Given the description of an element on the screen output the (x, y) to click on. 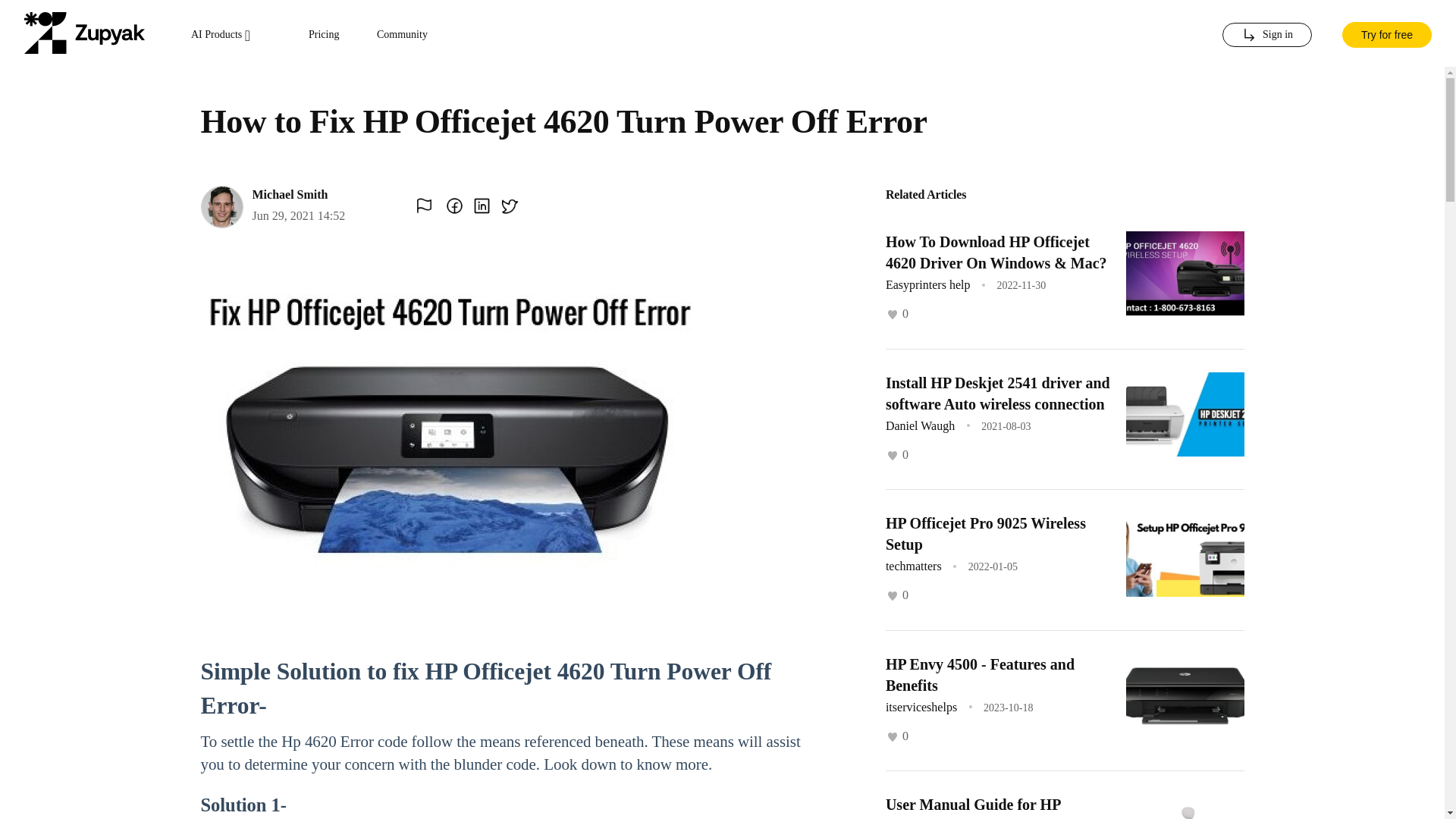
 Sign in (1267, 34)
Pricing (323, 34)
Try for free (1386, 33)
HP Officejet Pro 9025 Wireless Setup (985, 533)
Community (402, 34)
HP Envy 4500 - Features and Benefits (979, 673)
User Manual Guide for HP Officejet Pro 8100 Wireless Setup (993, 807)
